Given the description of an element on the screen output the (x, y) to click on. 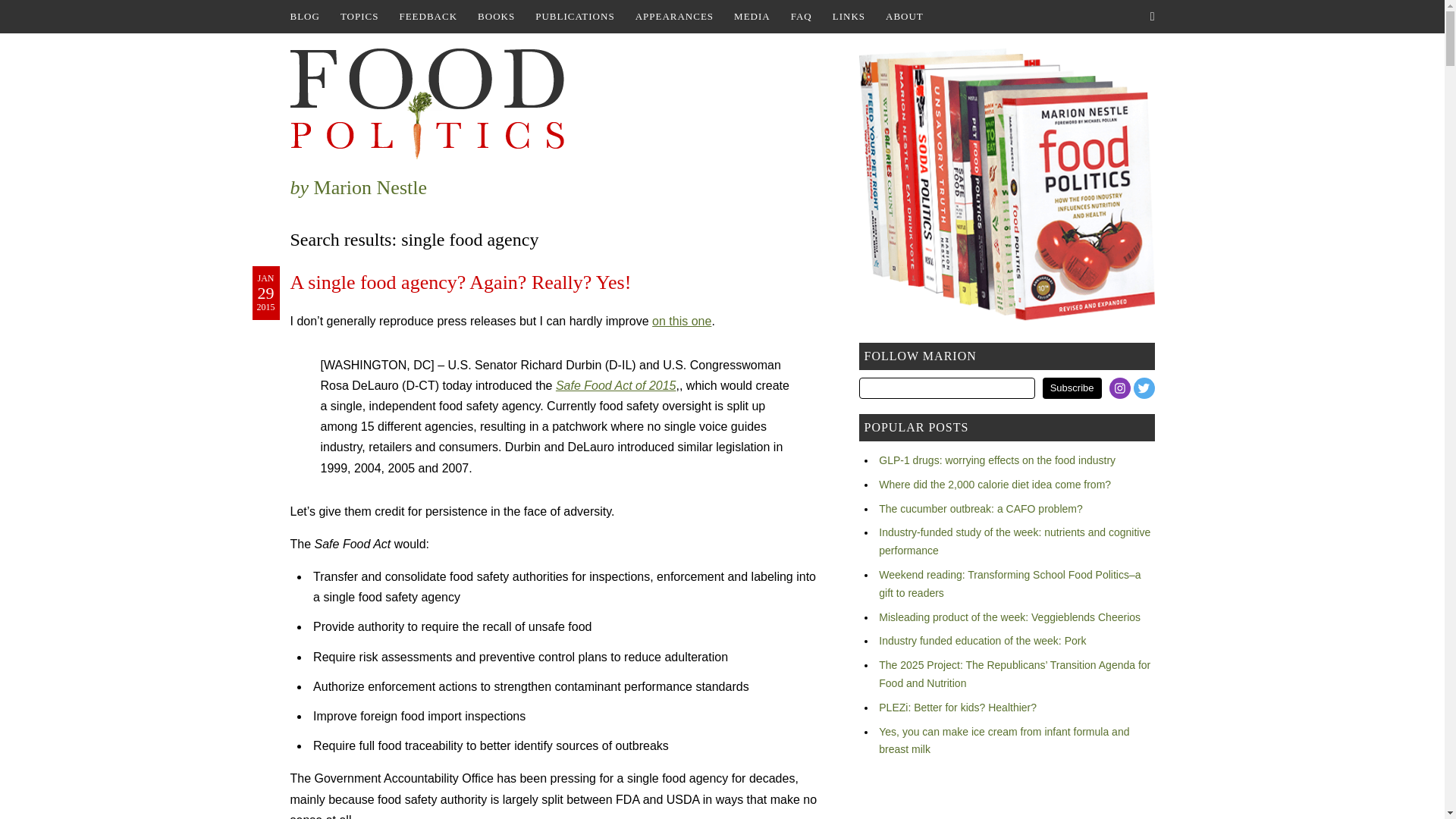
Subscribe (1072, 387)
TOPICS (360, 16)
ABOUT (904, 16)
BLOG (304, 16)
on this one (681, 320)
LINKS (848, 16)
APPEARANCES (673, 16)
FEEDBACK (427, 16)
Twitter (1143, 388)
Safe Food Act of 2015 (616, 385)
Instagram (1120, 388)
FAQ (801, 16)
BOOKS (496, 16)
MEDIA (751, 16)
PUBLICATIONS (574, 16)
